Given the description of an element on the screen output the (x, y) to click on. 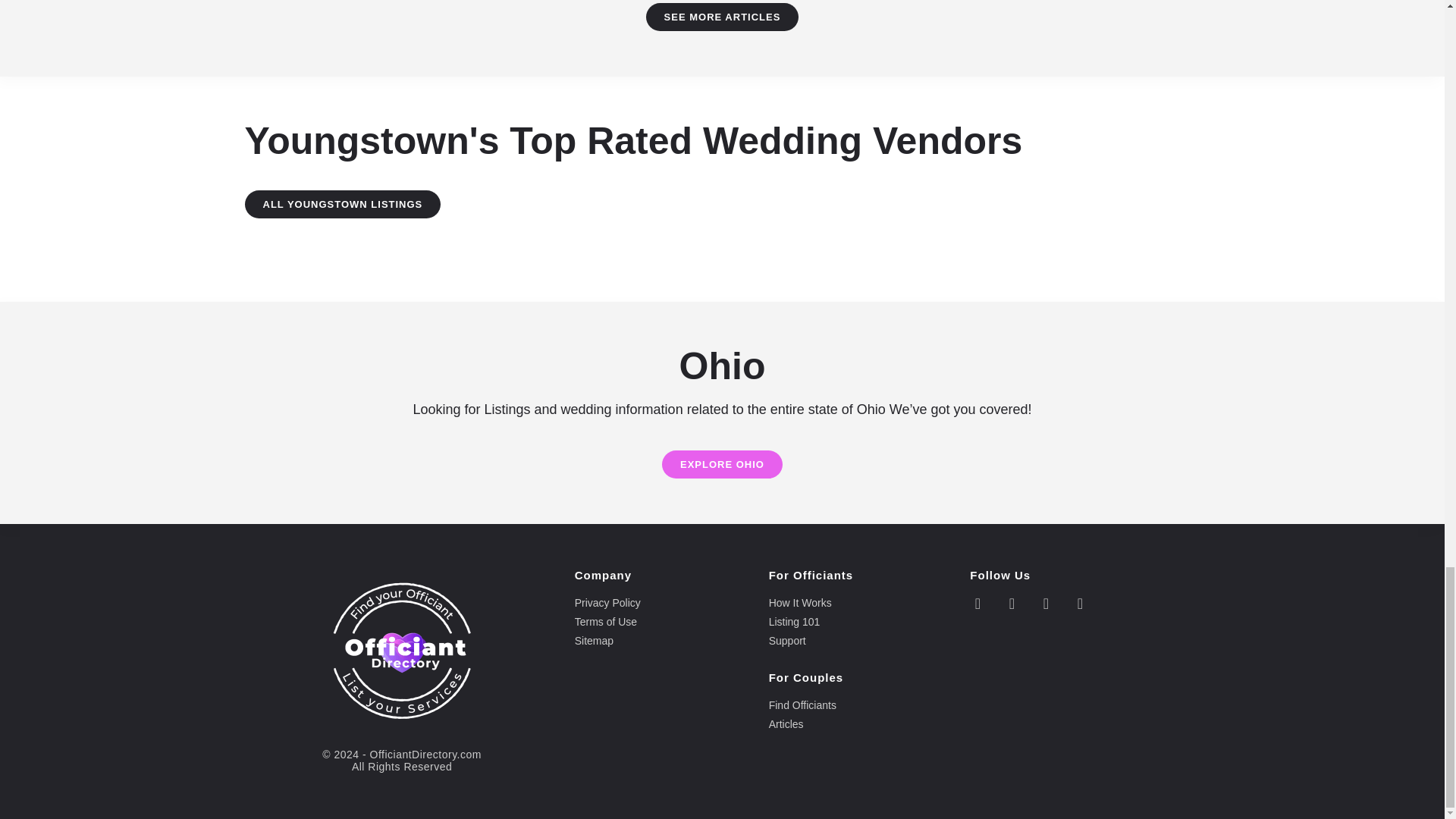
SEE MORE ARTICLES (722, 17)
ALL YOUNGSTOWN LISTINGS (342, 204)
Privacy Policy (664, 603)
Terms of Use (664, 622)
Sitemap (664, 641)
Listing 101 (861, 622)
Support (861, 641)
EXPLORE OHIO (722, 464)
Find Officiants (861, 705)
How It Works (861, 603)
Articles (861, 724)
